Given the description of an element on the screen output the (x, y) to click on. 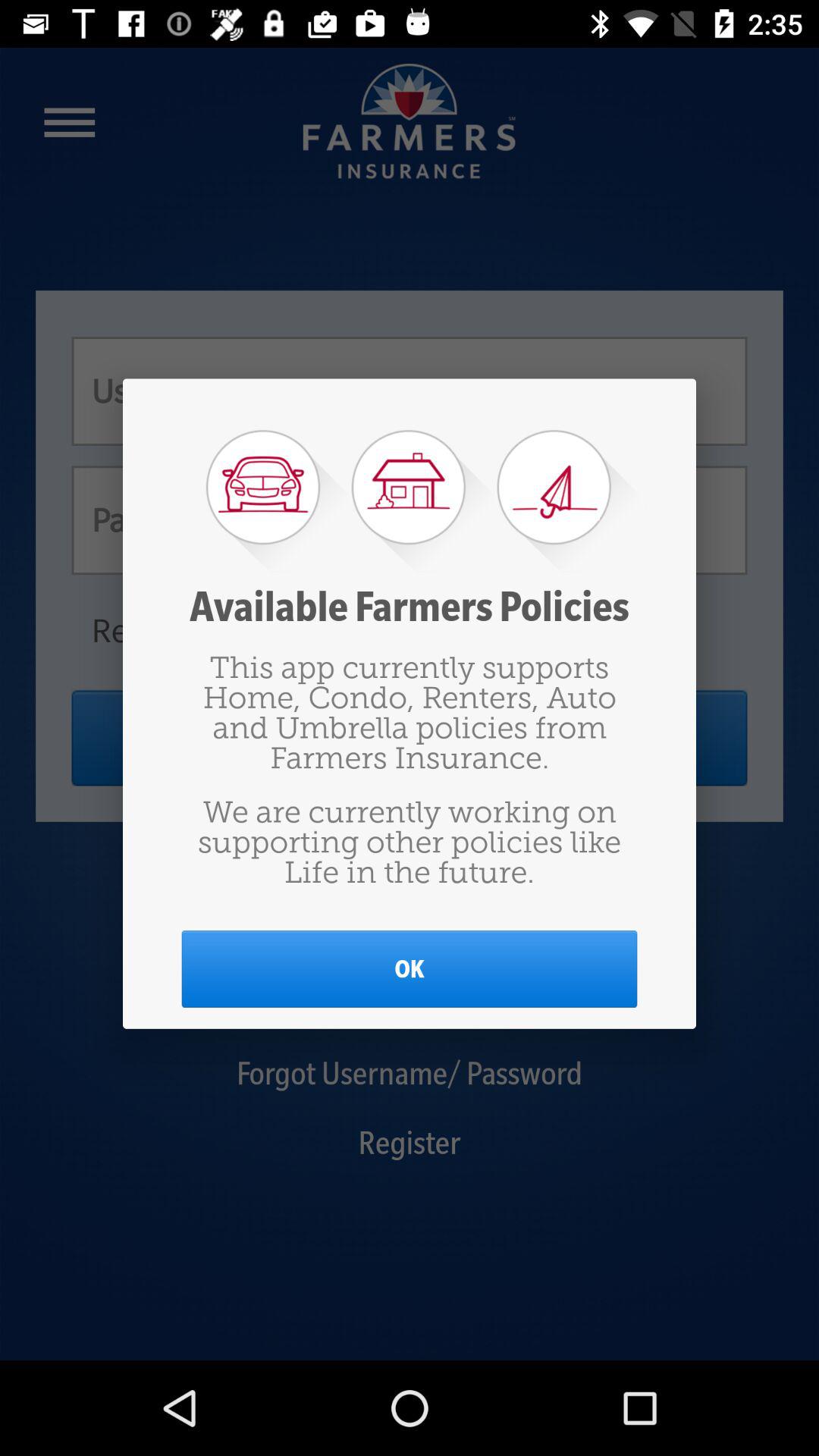
choose item below we are currently item (409, 968)
